Given the description of an element on the screen output the (x, y) to click on. 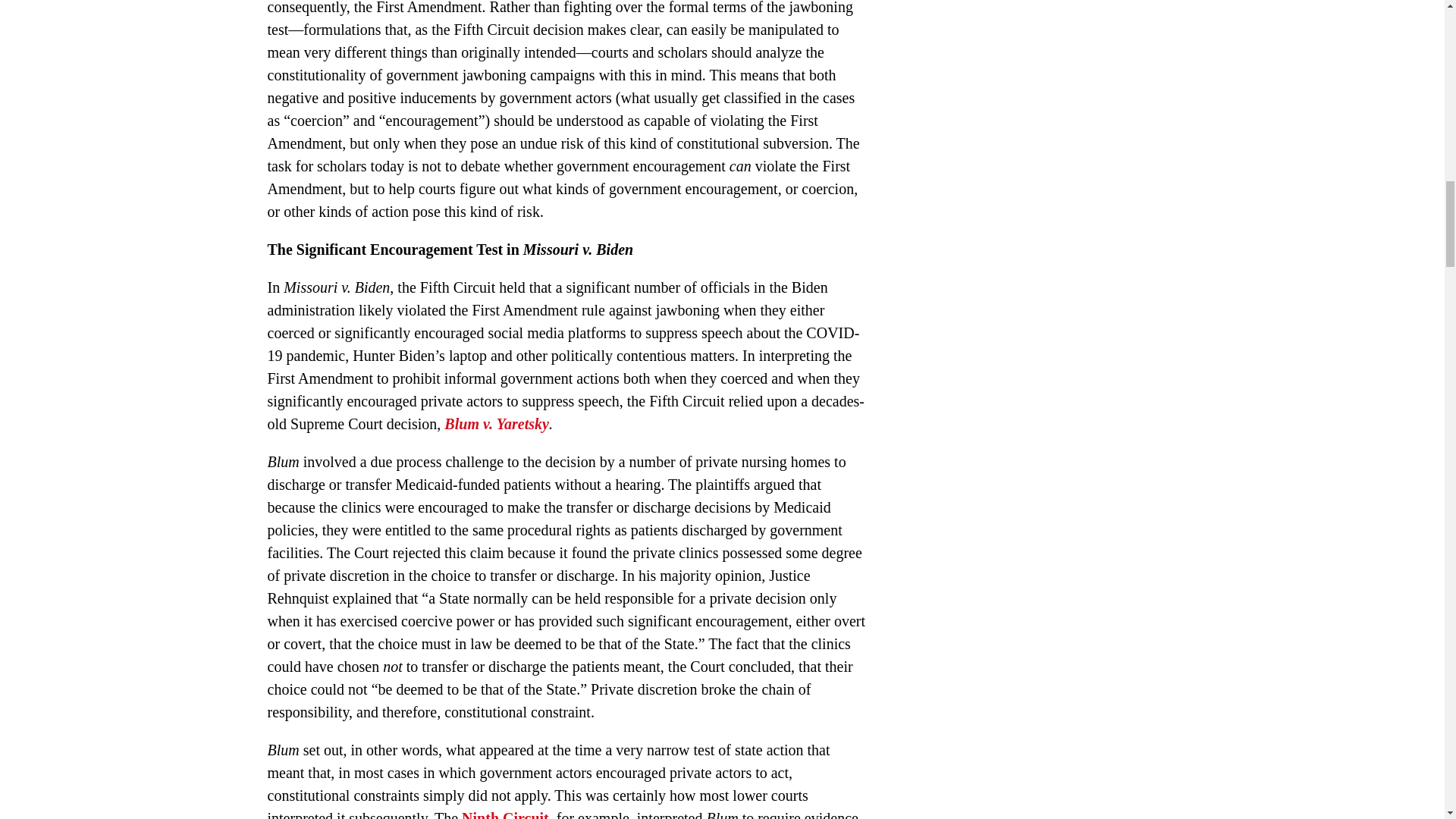
Blum v. Yaretsky (496, 423)
